Given the description of an element on the screen output the (x, y) to click on. 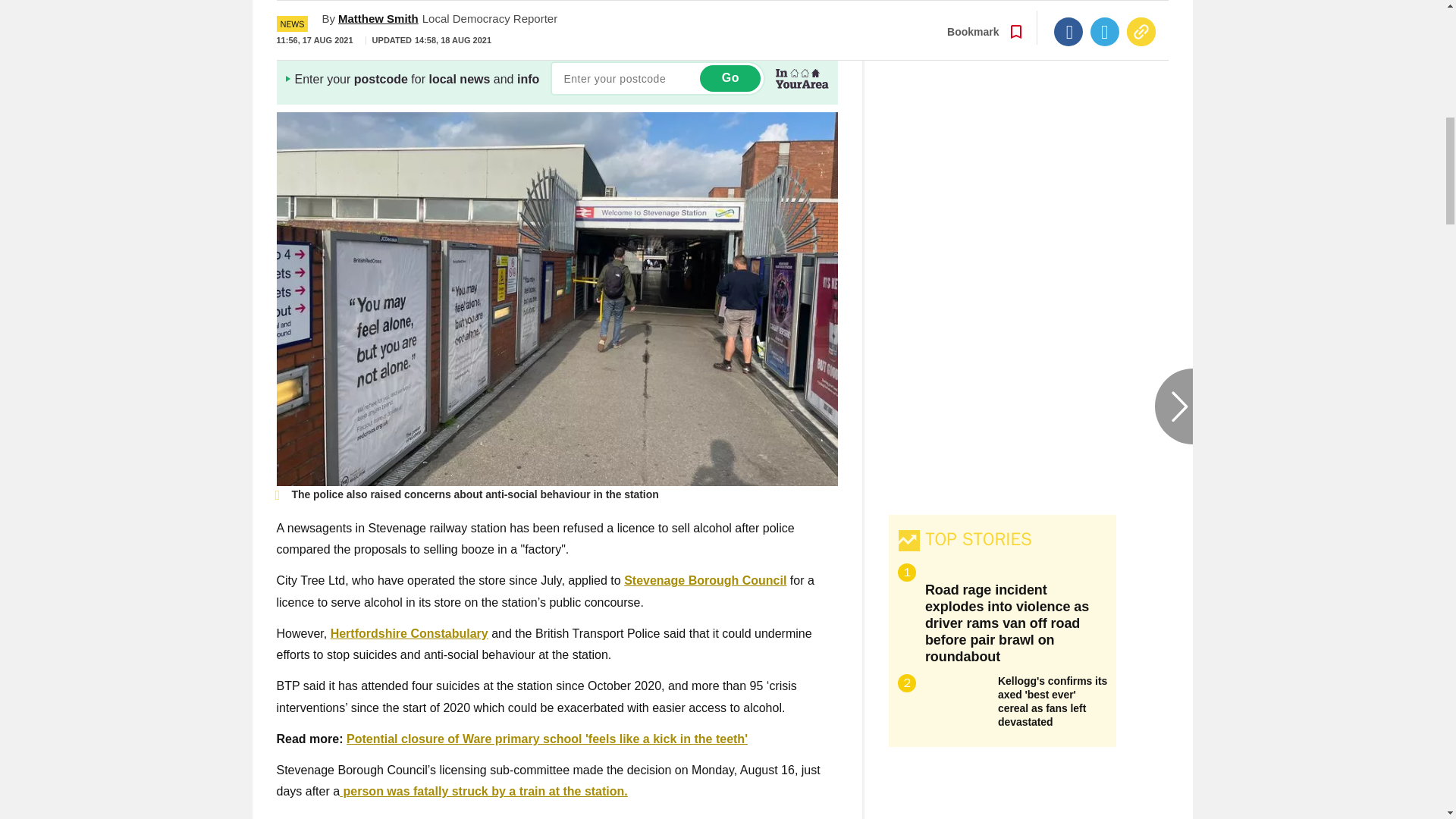
Go (730, 78)
Facebook (1068, 10)
Twitter (1104, 10)
